Given the description of an element on the screen output the (x, y) to click on. 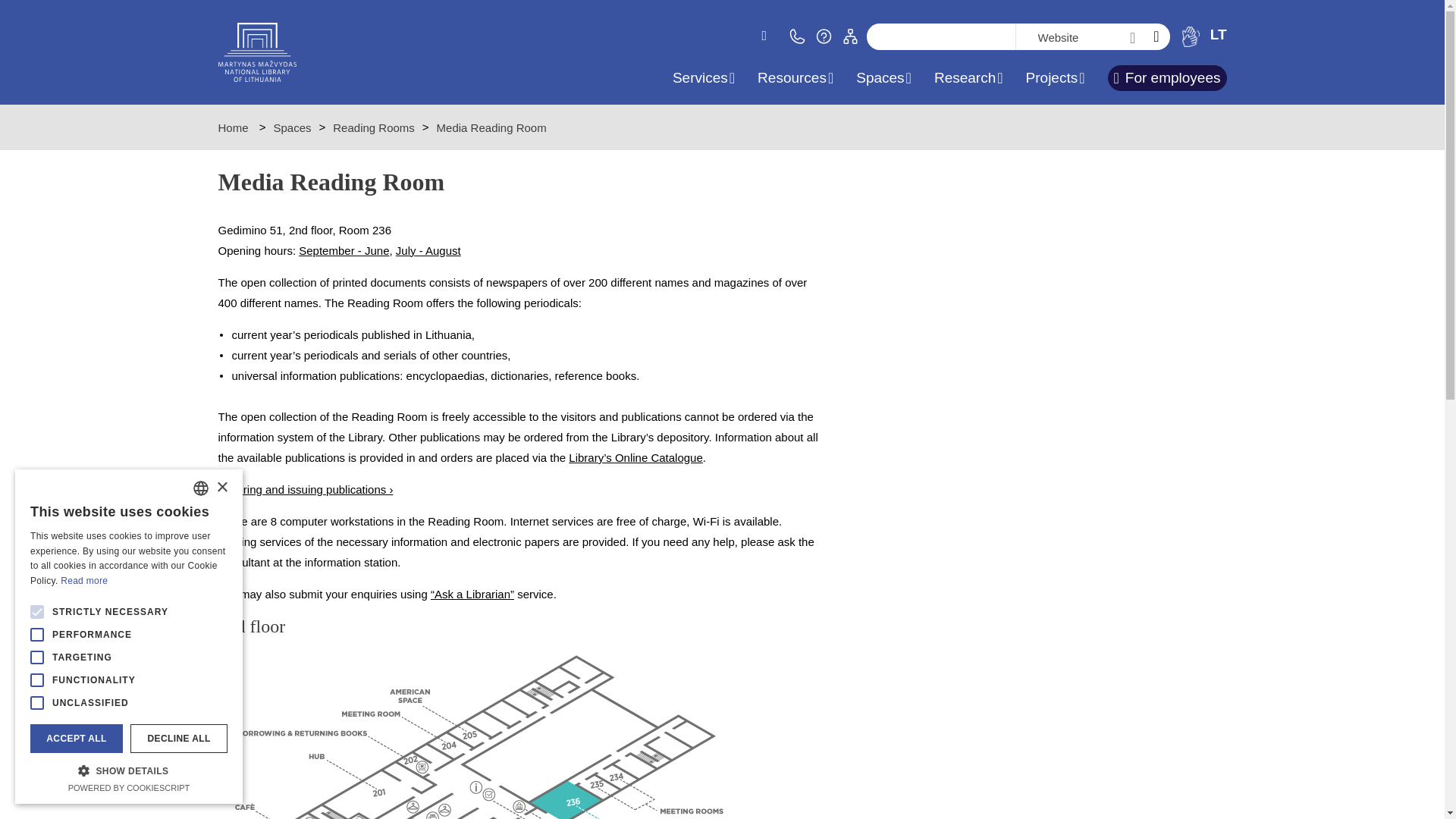
Resources (794, 78)
LT (1218, 34)
Consent Management Platform (129, 787)
Services (703, 78)
